Given the description of an element on the screen output the (x, y) to click on. 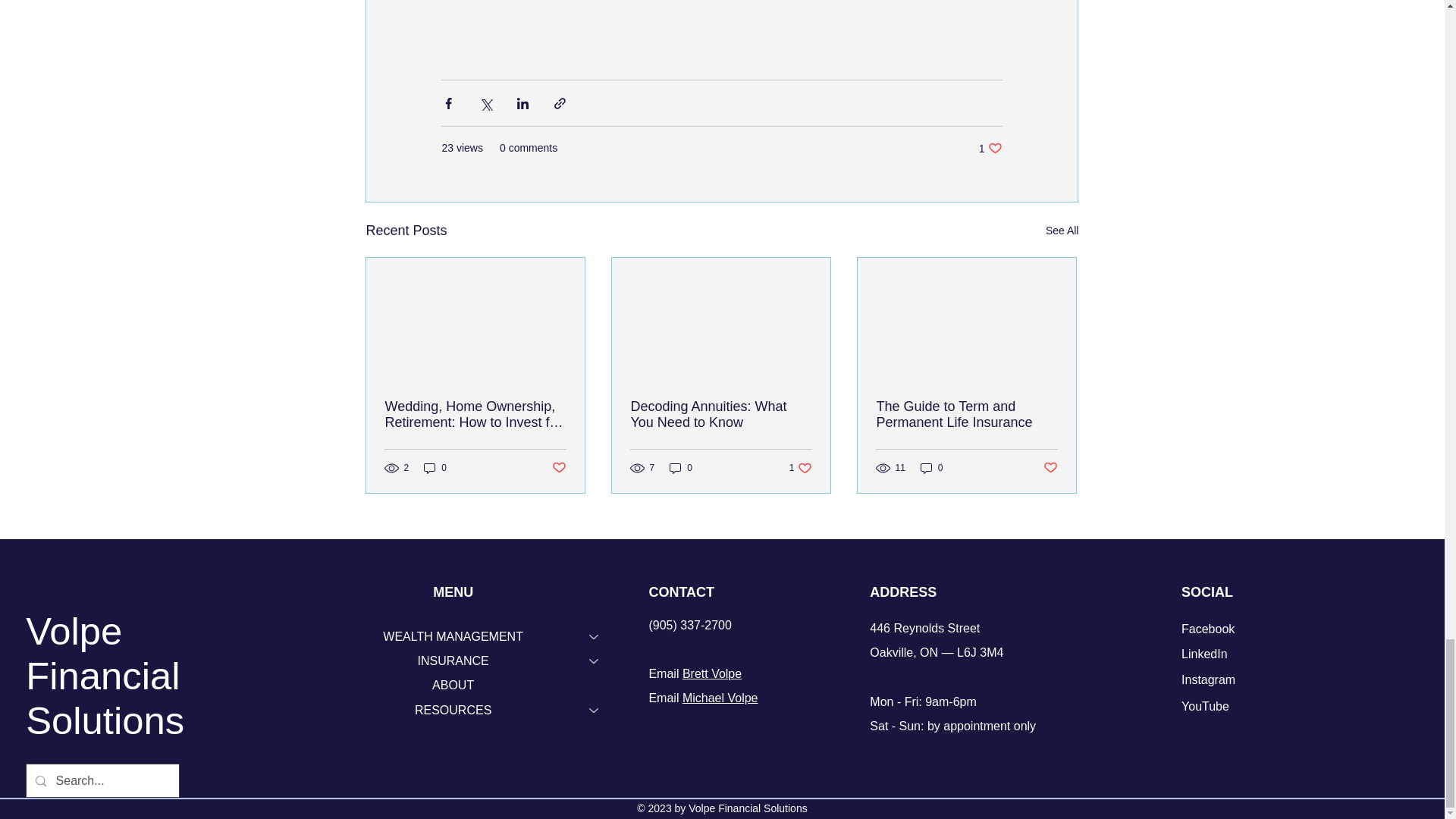
0 (435, 468)
Decoding Annuities: What You Need to Know (721, 414)
Post not marked as liked (558, 467)
0 (681, 468)
See All (1061, 230)
